Given the description of an element on the screen output the (x, y) to click on. 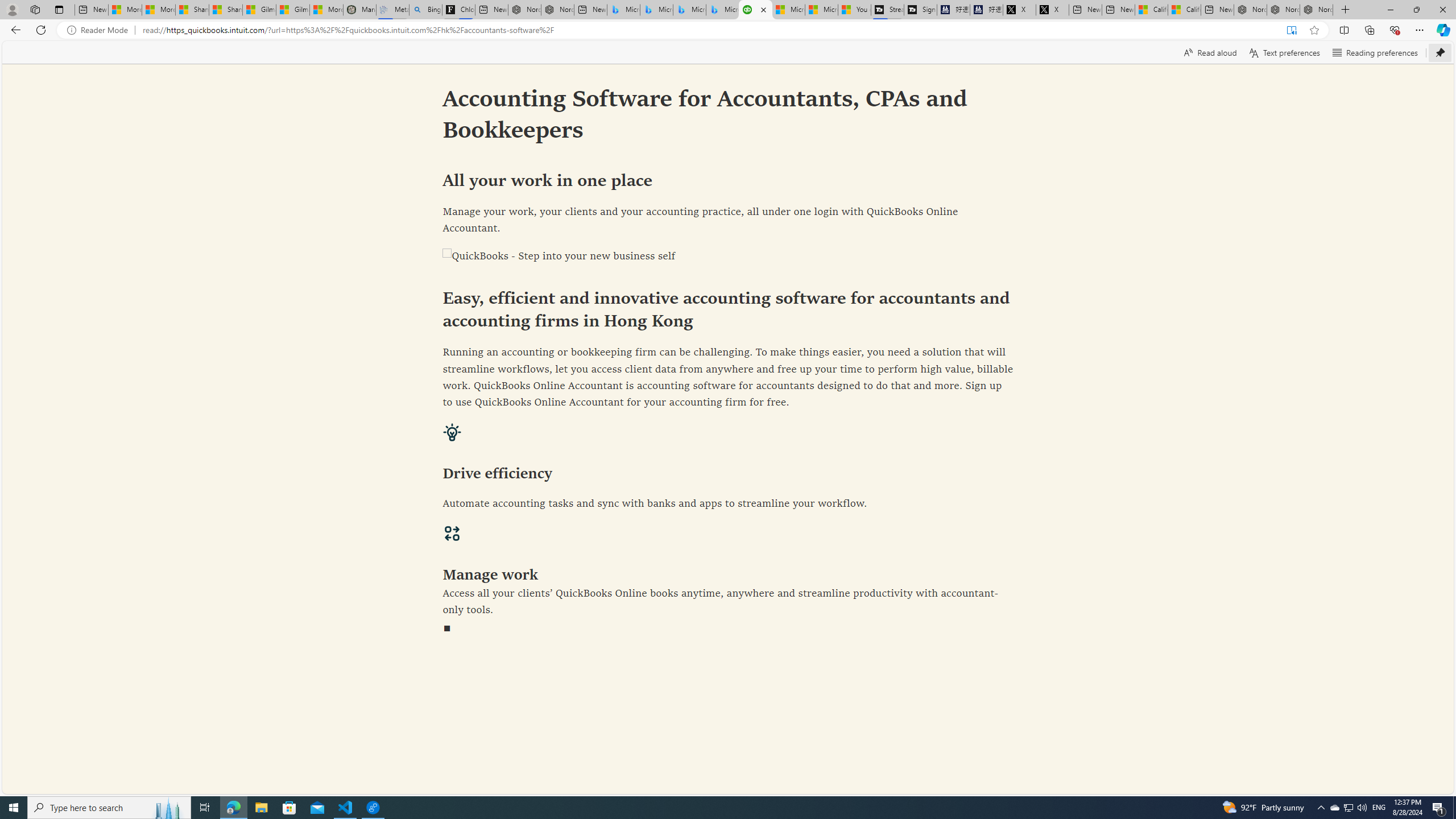
Manatee Mortality Statistics | FWC (359, 9)
Chloe Sorvino (458, 9)
Read aloud (1209, 52)
